Given the description of an element on the screen output the (x, y) to click on. 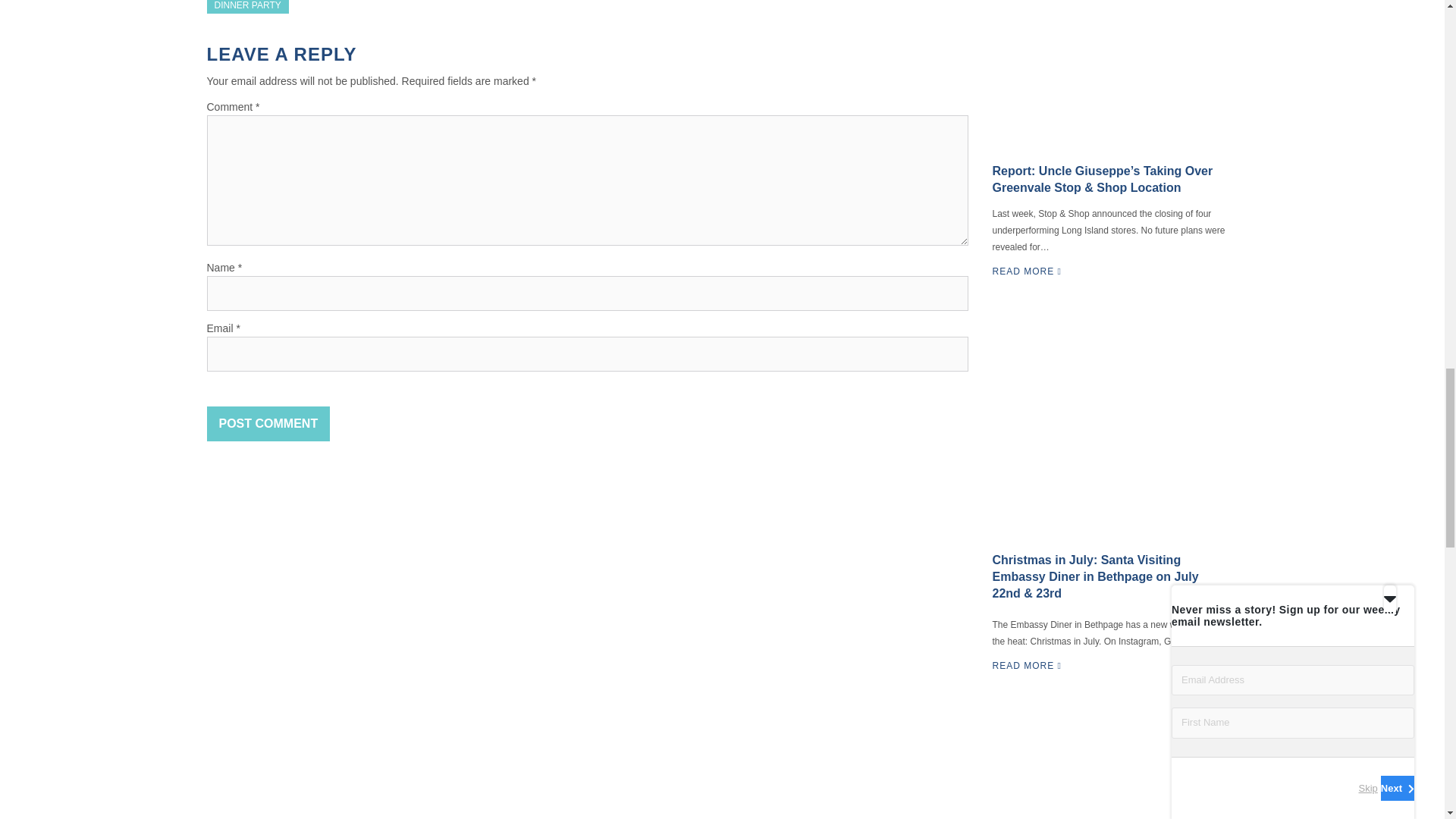
View all posts in Dinner Party (247, 6)
Post Comment (268, 423)
